Given the description of an element on the screen output the (x, y) to click on. 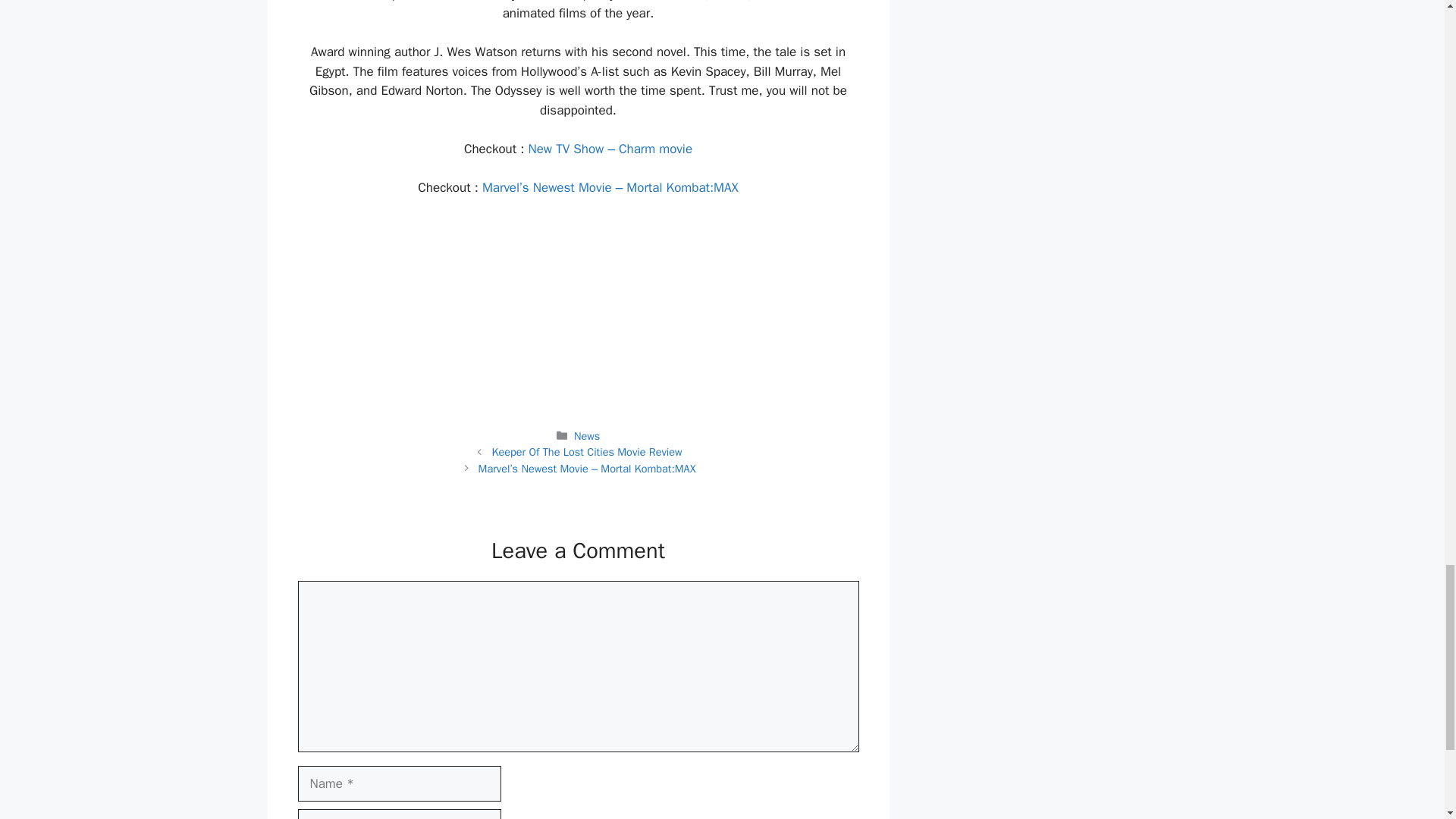
News (586, 436)
Keeper Of The Lost Cities Movie Review (586, 451)
